Given the description of an element on the screen output the (x, y) to click on. 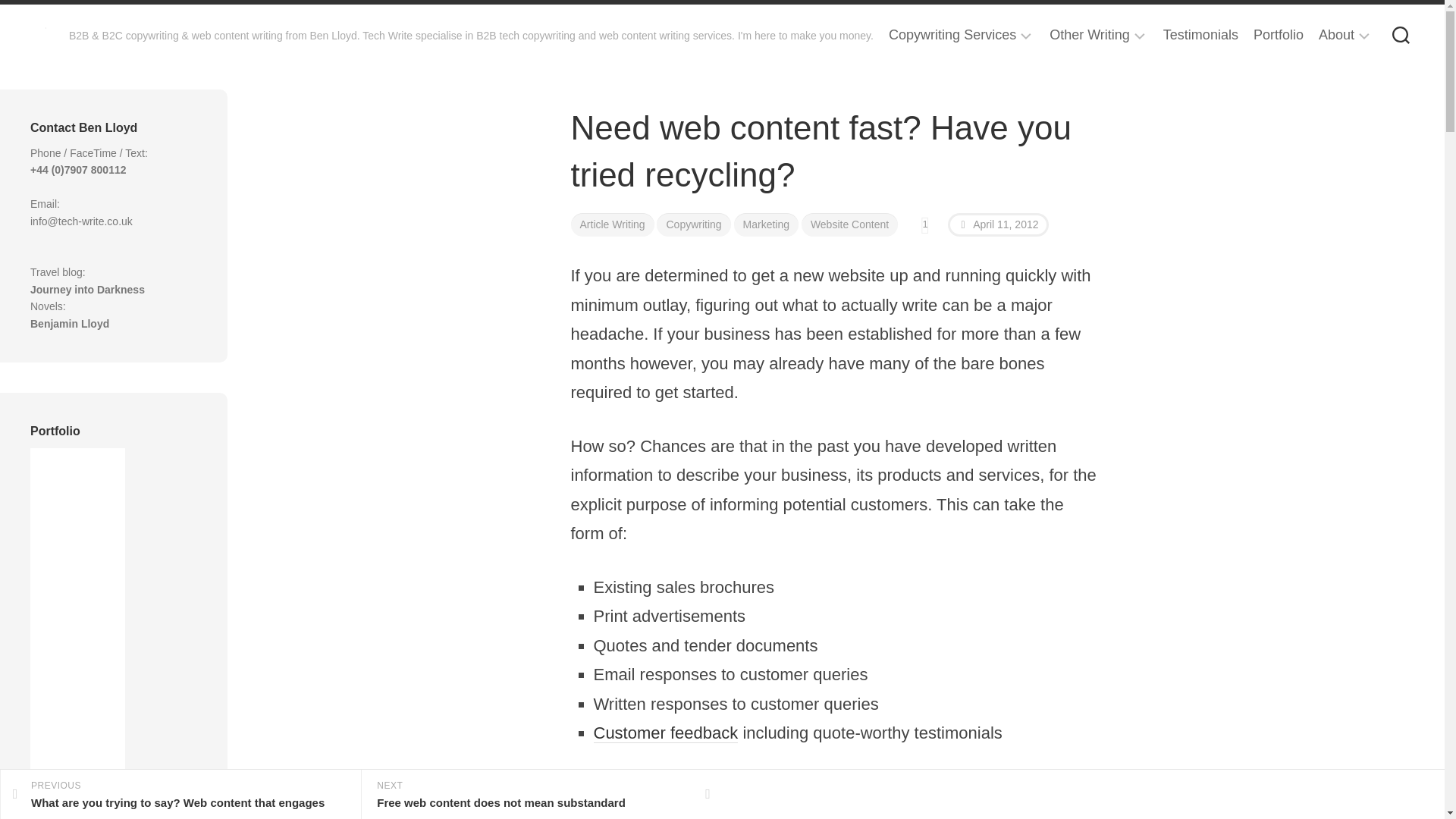
Customer Feedback is a Content Goldmine (665, 732)
About (1336, 35)
Copywriting (693, 224)
Marketing (765, 224)
Website Content (850, 224)
Portfolio (1278, 34)
Article Writing (611, 224)
Other Writing (1089, 35)
Copywriting Services (952, 35)
Customer feedback (665, 732)
1 (924, 223)
Testimonials (1201, 34)
